Given the description of an element on the screen output the (x, y) to click on. 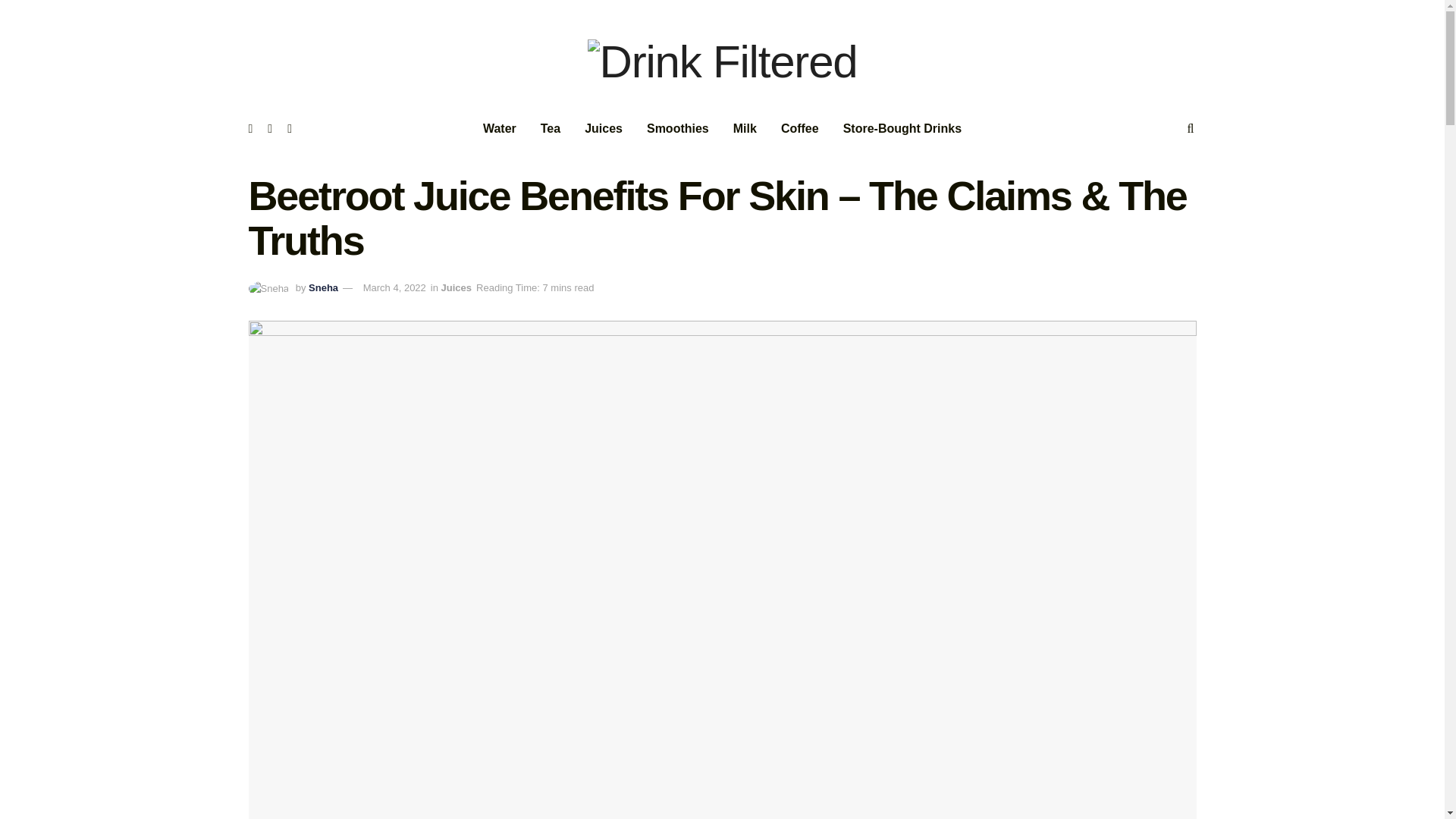
Water (499, 128)
Coffee (799, 128)
Smoothies (677, 128)
Store-Bought Drinks (902, 128)
Tea (550, 128)
Sneha (322, 287)
March 4, 2022 (394, 287)
Juices (456, 287)
Milk (744, 128)
Juices (603, 128)
